Given the description of an element on the screen output the (x, y) to click on. 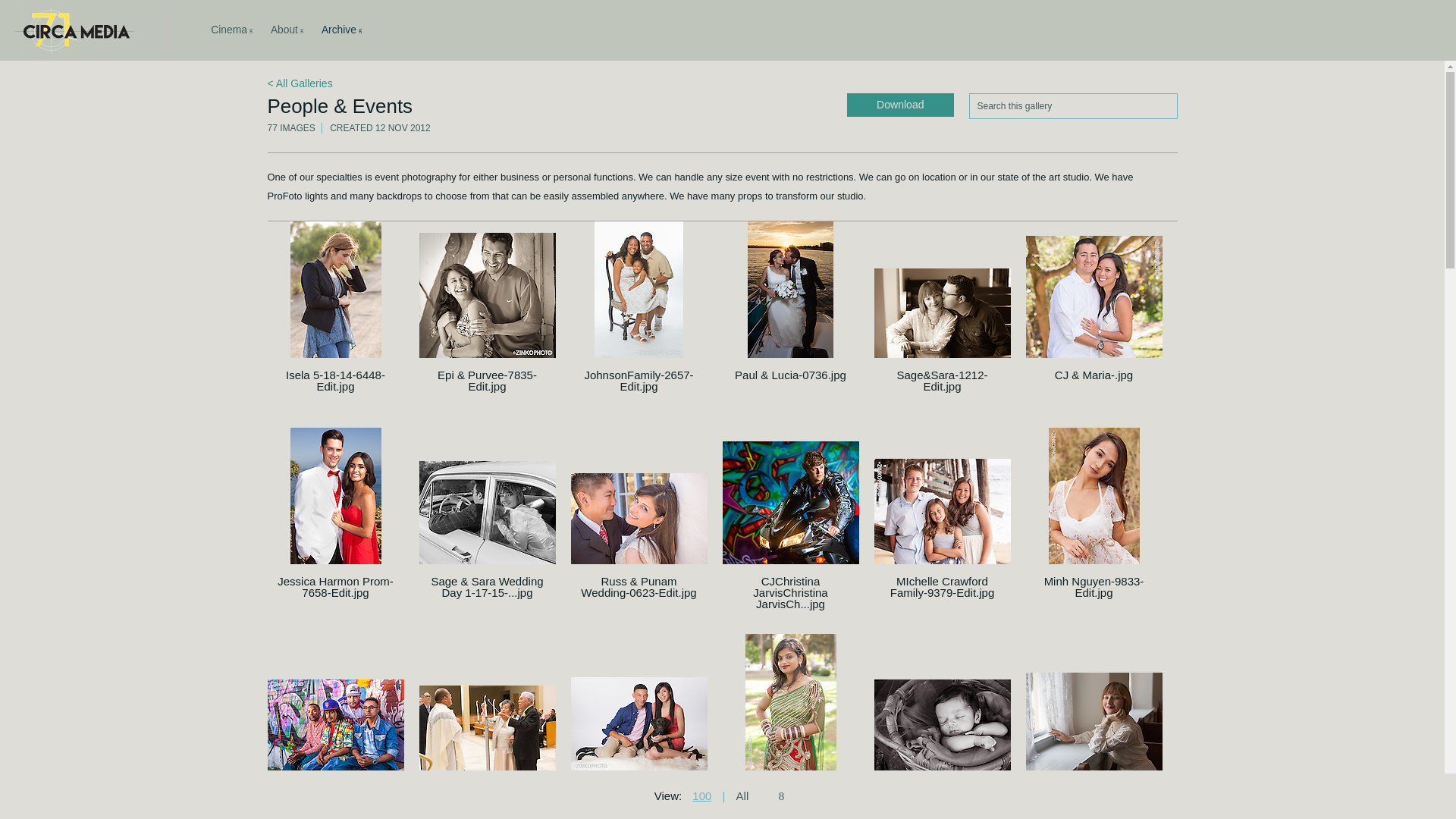
CJChristina JarvisChristina JarvisCh...jpg (789, 592)
Isela 5-18-14-6448-Edit.jpg (335, 380)
All Galleries (298, 82)
Download (294, 30)
CIRCA 71 MEDIA (900, 105)
JohnsonFamily-2657-Edit.jpg (94, 30)
CIRCA 71 MEDIA (638, 380)
Jessica Harmon Prom-7658-Edit.jpg (94, 30)
